Given the description of an element on the screen output the (x, y) to click on. 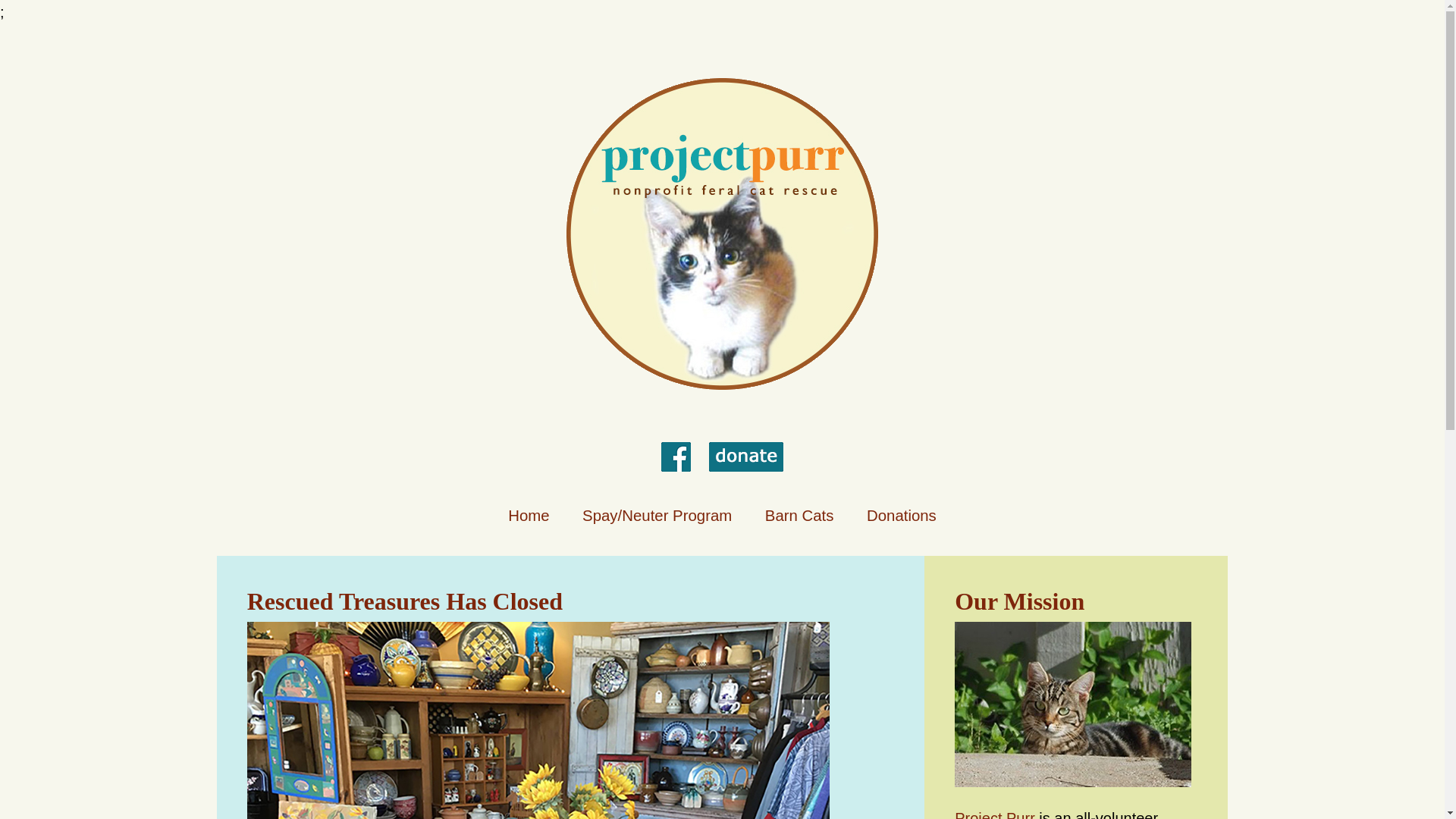
Project Purr (995, 814)
Donations (901, 515)
Barn Cats (799, 515)
Home (528, 515)
